Given the description of an element on the screen output the (x, y) to click on. 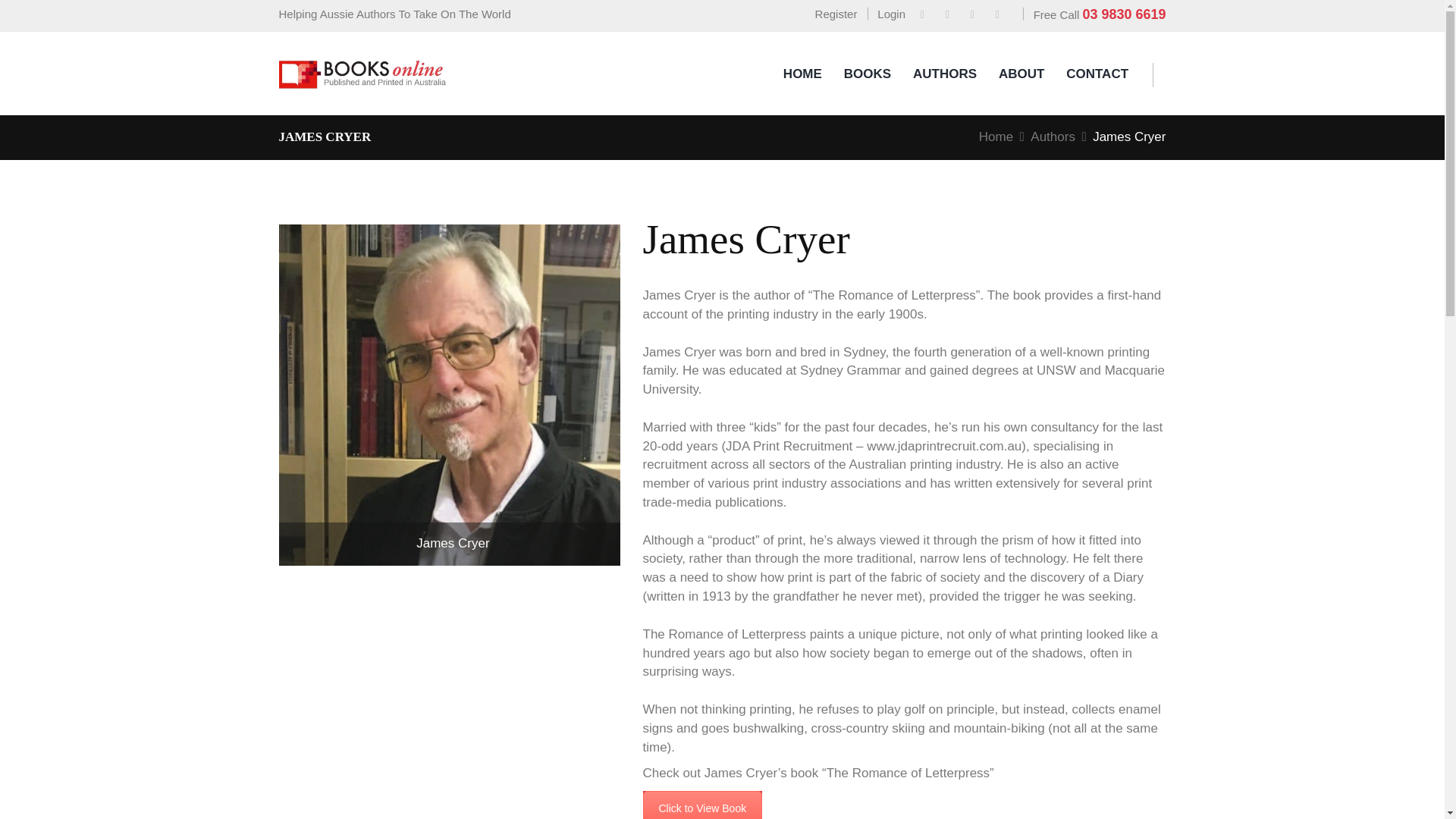
Register (831, 15)
CONTACT (1096, 74)
Home (995, 136)
Login (886, 15)
BOOKS (867, 74)
ABOUT (1020, 74)
The Romance of Letterpress (702, 805)
HOME (802, 74)
03 9830 6619 (1124, 14)
AUTHORS (944, 74)
